Given the description of an element on the screen output the (x, y) to click on. 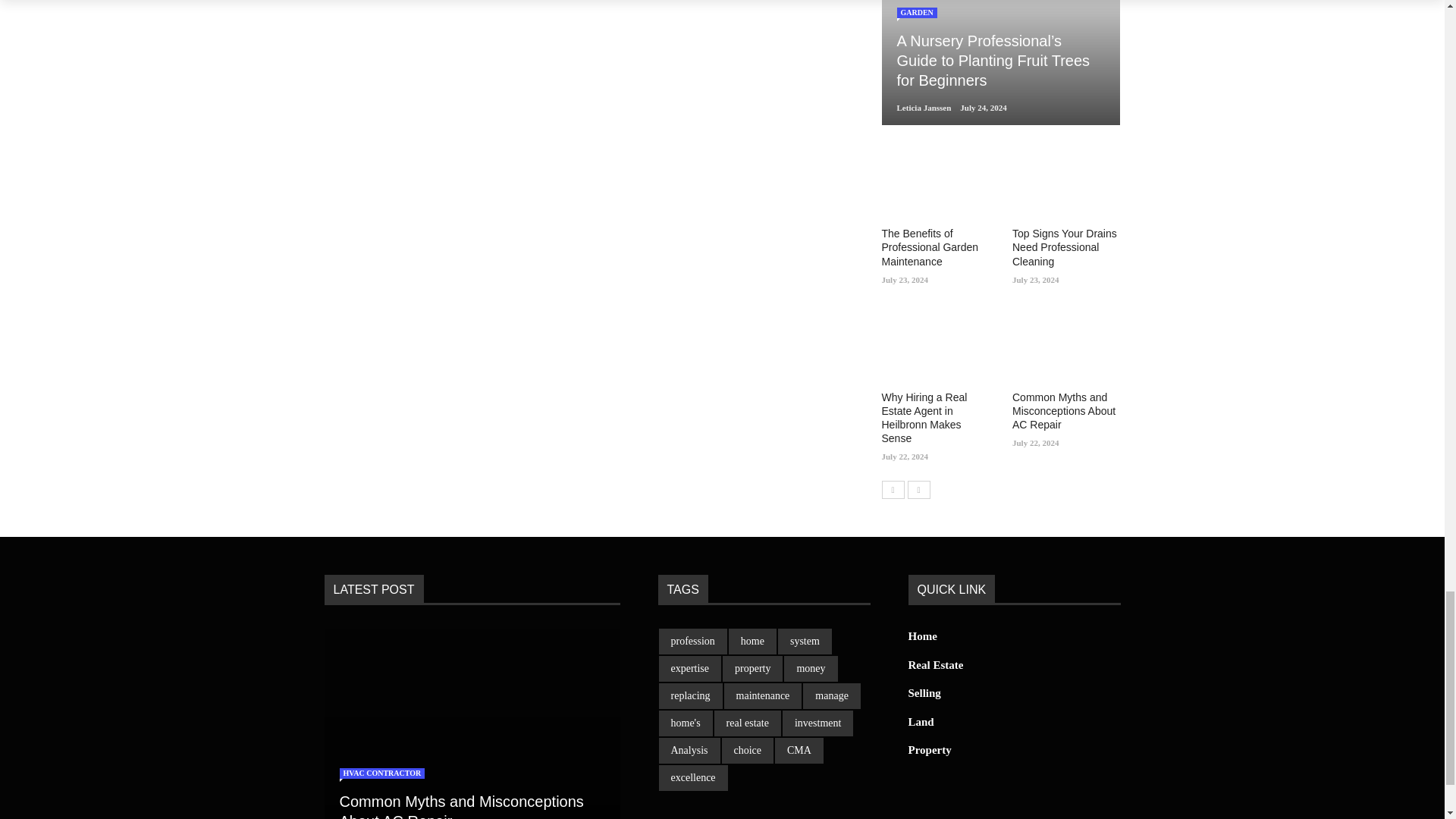
Next (918, 489)
Previous (892, 489)
